Given the description of an element on the screen output the (x, y) to click on. 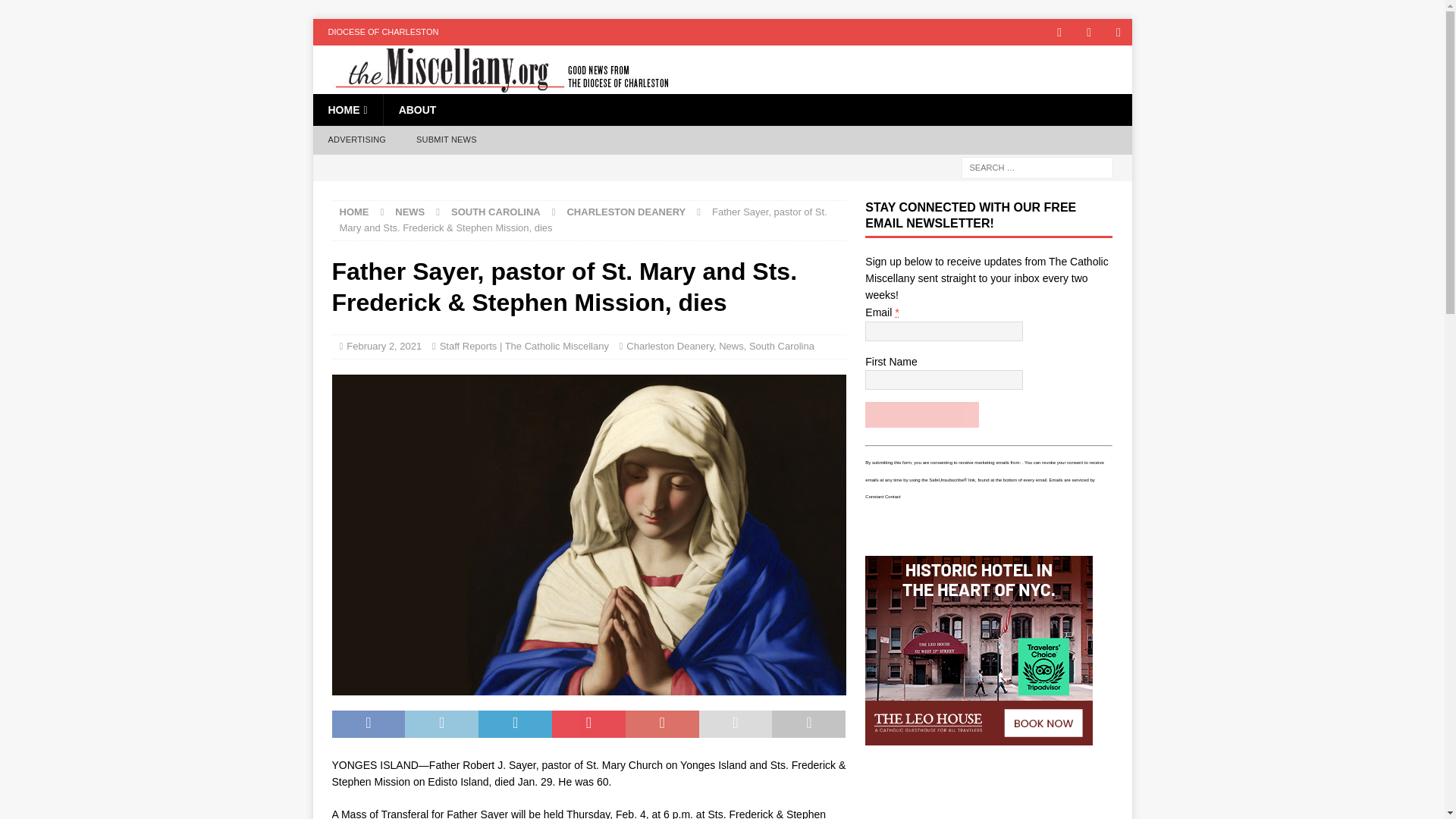
Charleston Deanery (669, 346)
Join today! (921, 414)
South Carolina (781, 346)
ADVERTISING (357, 140)
HOME (347, 110)
Search (56, 11)
NEWS (409, 211)
SUBMIT NEWS (446, 140)
CHARLESTON DEANERY (625, 211)
The Catholic Miscellany (492, 85)
HOME (354, 211)
News (731, 346)
DIOCESE OF CHARLESTON (382, 31)
February 2, 2021 (384, 346)
ABOUT (416, 110)
